Given the description of an element on the screen output the (x, y) to click on. 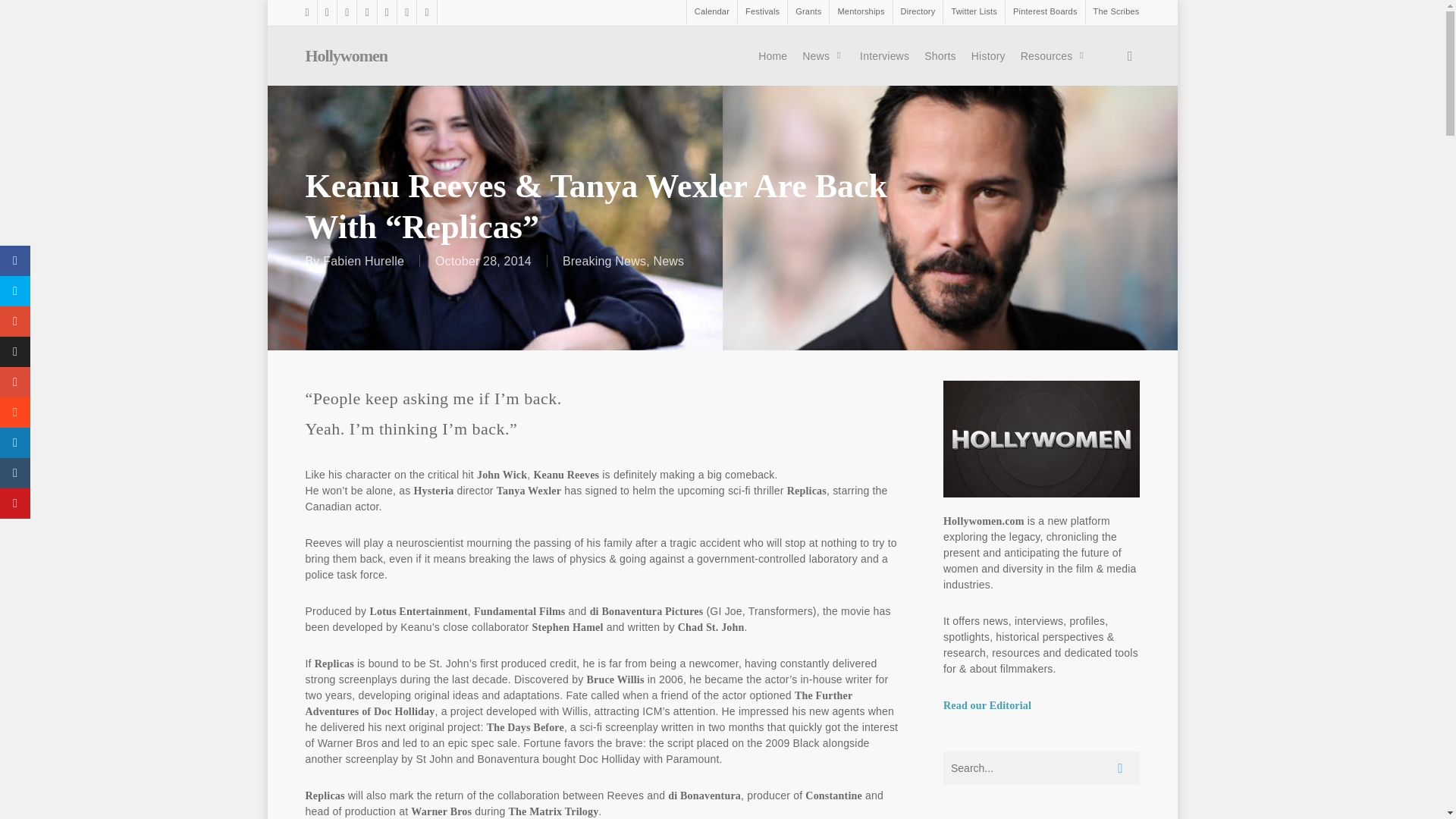
The Scribes (1112, 11)
Resources (1054, 55)
Pinterest Boards (1044, 11)
History (988, 55)
Mentorships (859, 11)
Home (772, 55)
Interviews (884, 55)
Shorts (940, 55)
Twitter Lists (973, 11)
Directory (917, 11)
